Given the description of an element on the screen output the (x, y) to click on. 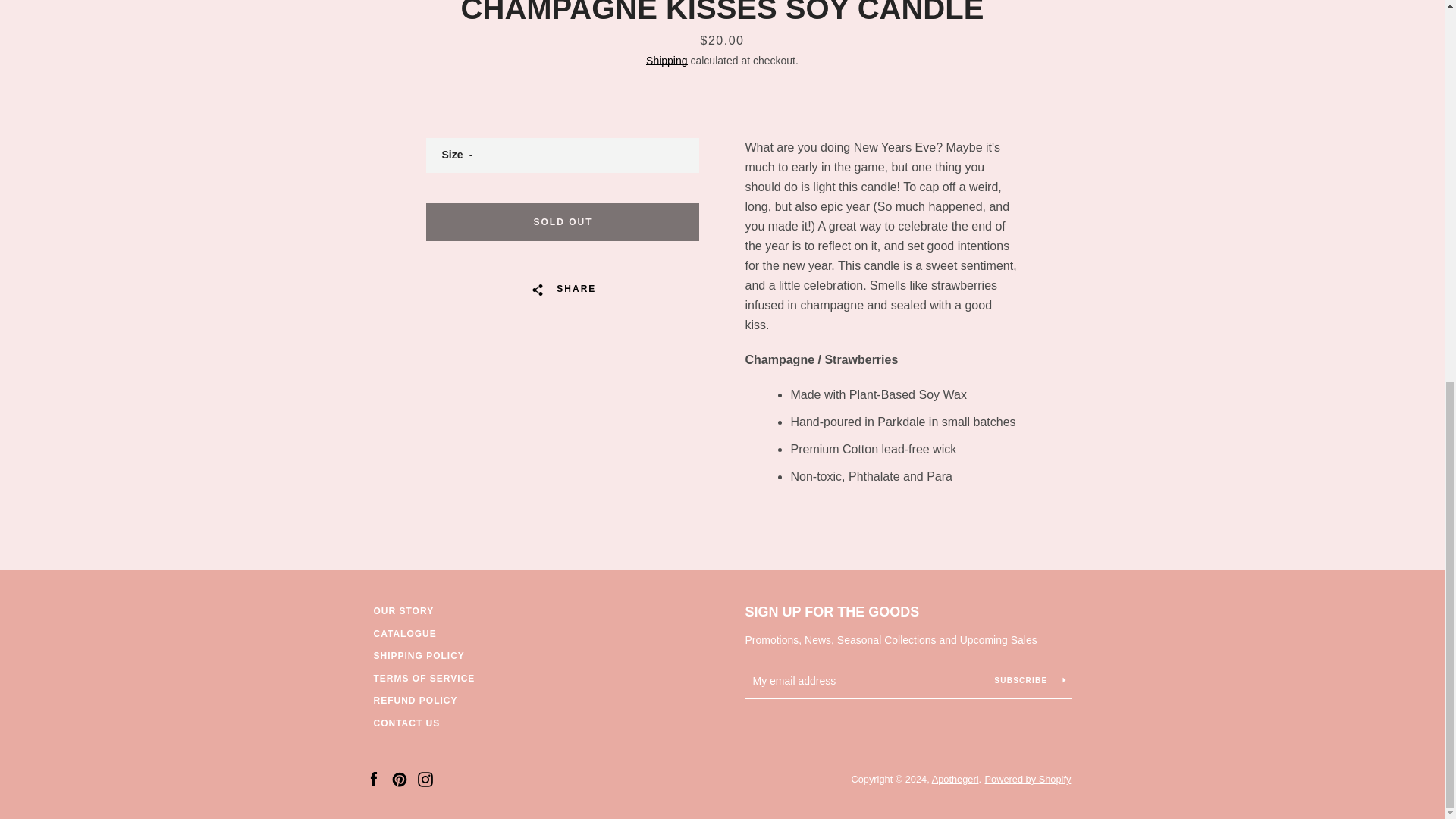
SOLD OUT (562, 221)
Apothegeri on Instagram (424, 778)
Apothegeri on Facebook (372, 778)
Shipping (666, 60)
SHARE (563, 288)
Apothegeri on Pinterest (399, 778)
